Given the description of an element on the screen output the (x, y) to click on. 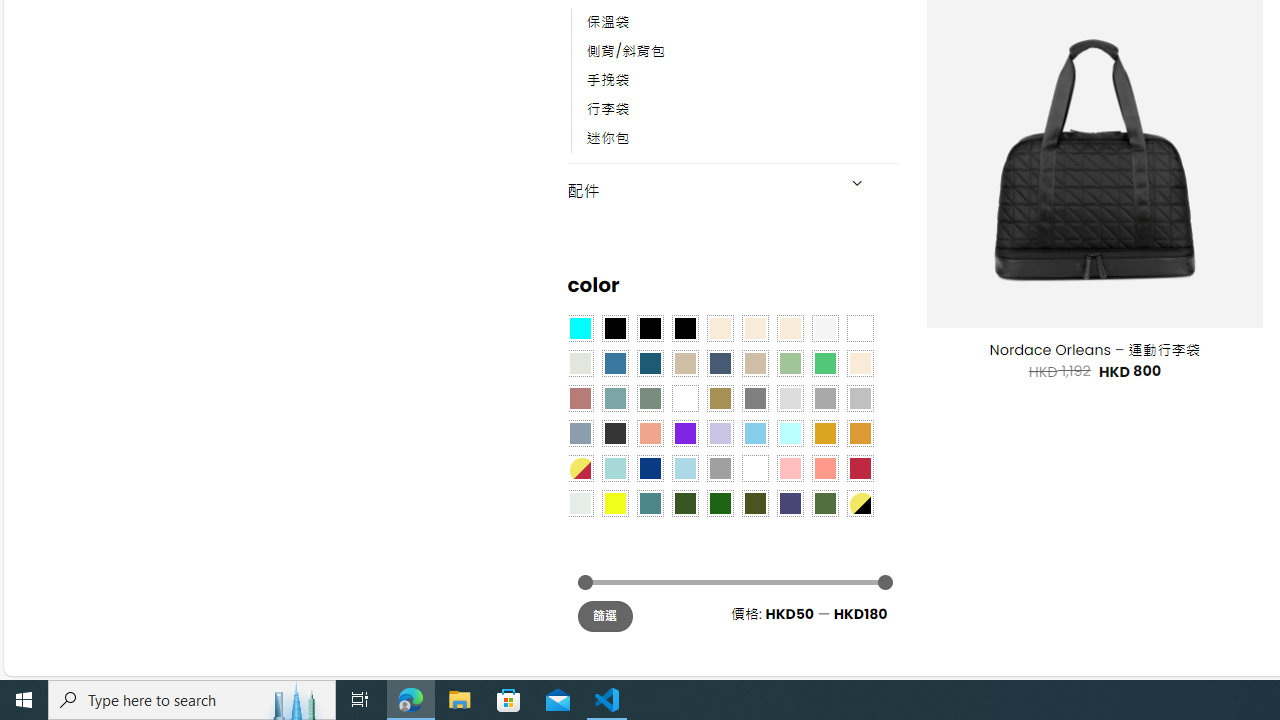
Dull Nickle (579, 503)
